Given the description of an element on the screen output the (x, y) to click on. 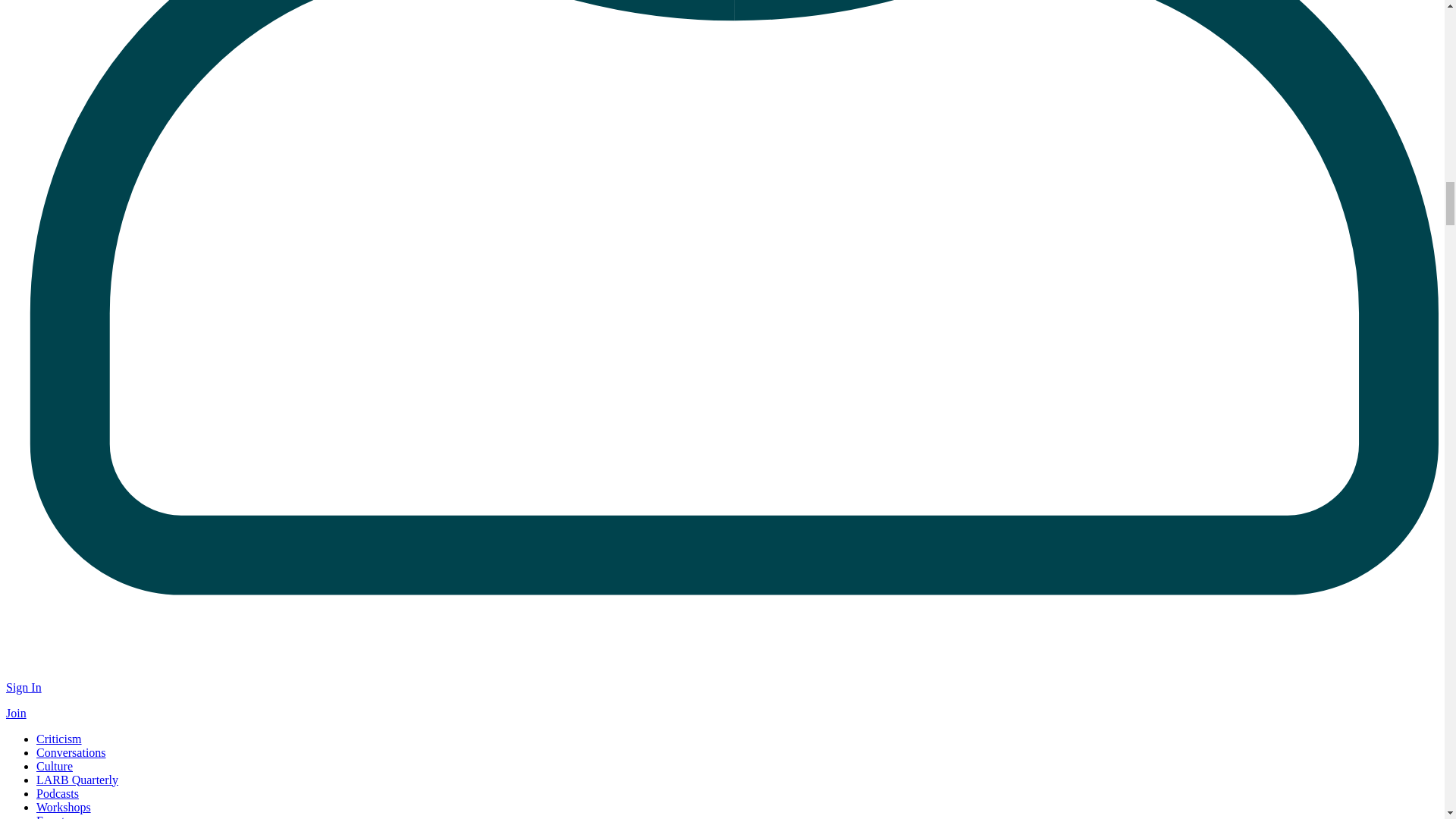
Conversations (71, 752)
Podcasts (57, 793)
Criticism (58, 738)
Culture (54, 766)
LARB Quarterly (76, 779)
Events (52, 816)
Sign In (23, 686)
Workshops (63, 807)
